Given the description of an element on the screen output the (x, y) to click on. 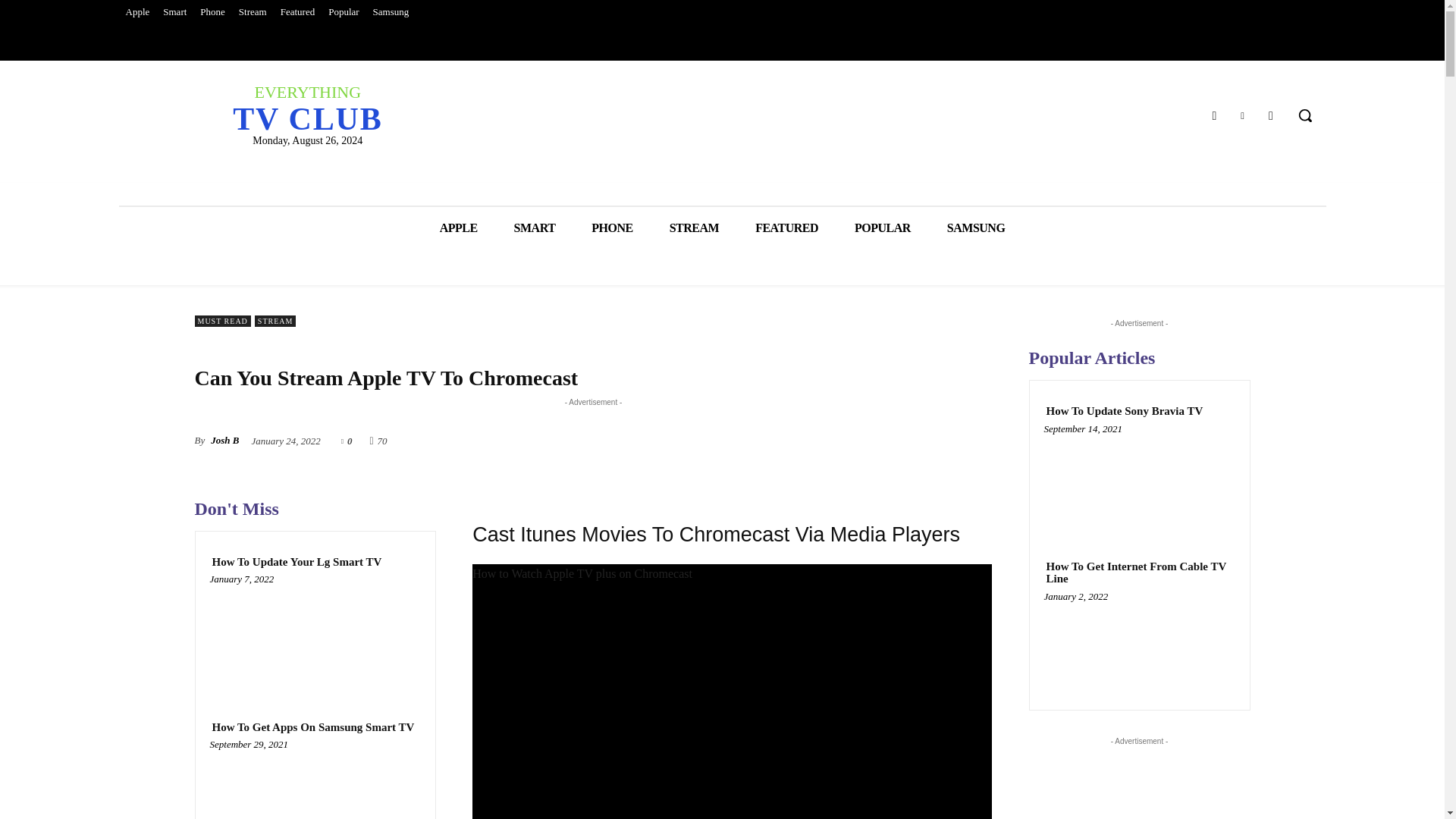
STREAM (693, 227)
Featured (297, 12)
Stream (252, 12)
Samsung (391, 12)
Youtube (1270, 115)
POPULAR (881, 227)
Apple (136, 12)
PHONE (611, 227)
How To Get Apps On Samsung Smart TV (314, 783)
FEATURED (785, 227)
